Given the description of an element on the screen output the (x, y) to click on. 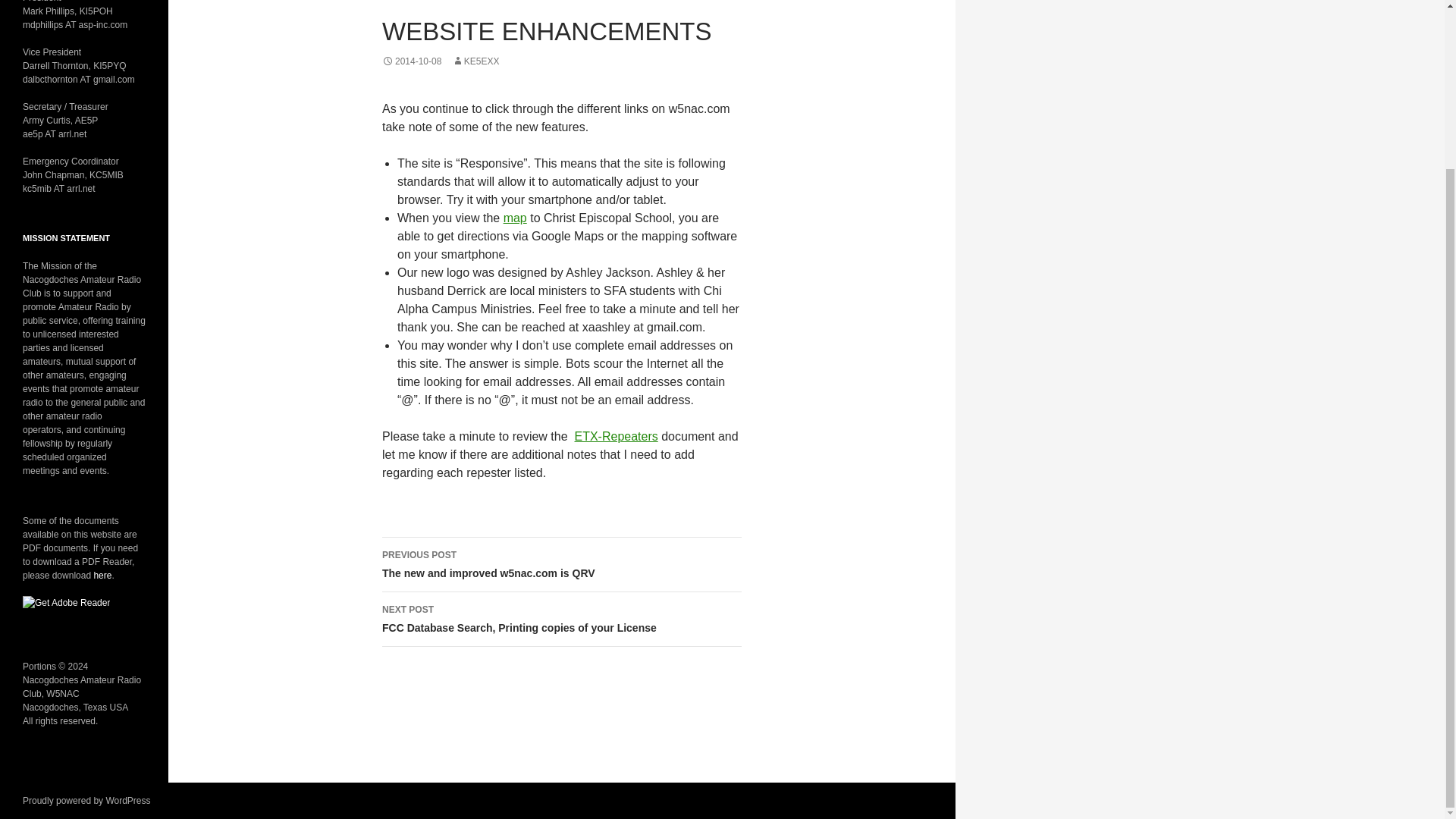
Directions to Christ Episcopal School (561, 564)
map (515, 217)
ETX-Repeaters (515, 217)
KE5EXX (615, 436)
here (475, 61)
Proudly powered by WordPress (102, 575)
2014-10-08 (87, 800)
